Given the description of an element on the screen output the (x, y) to click on. 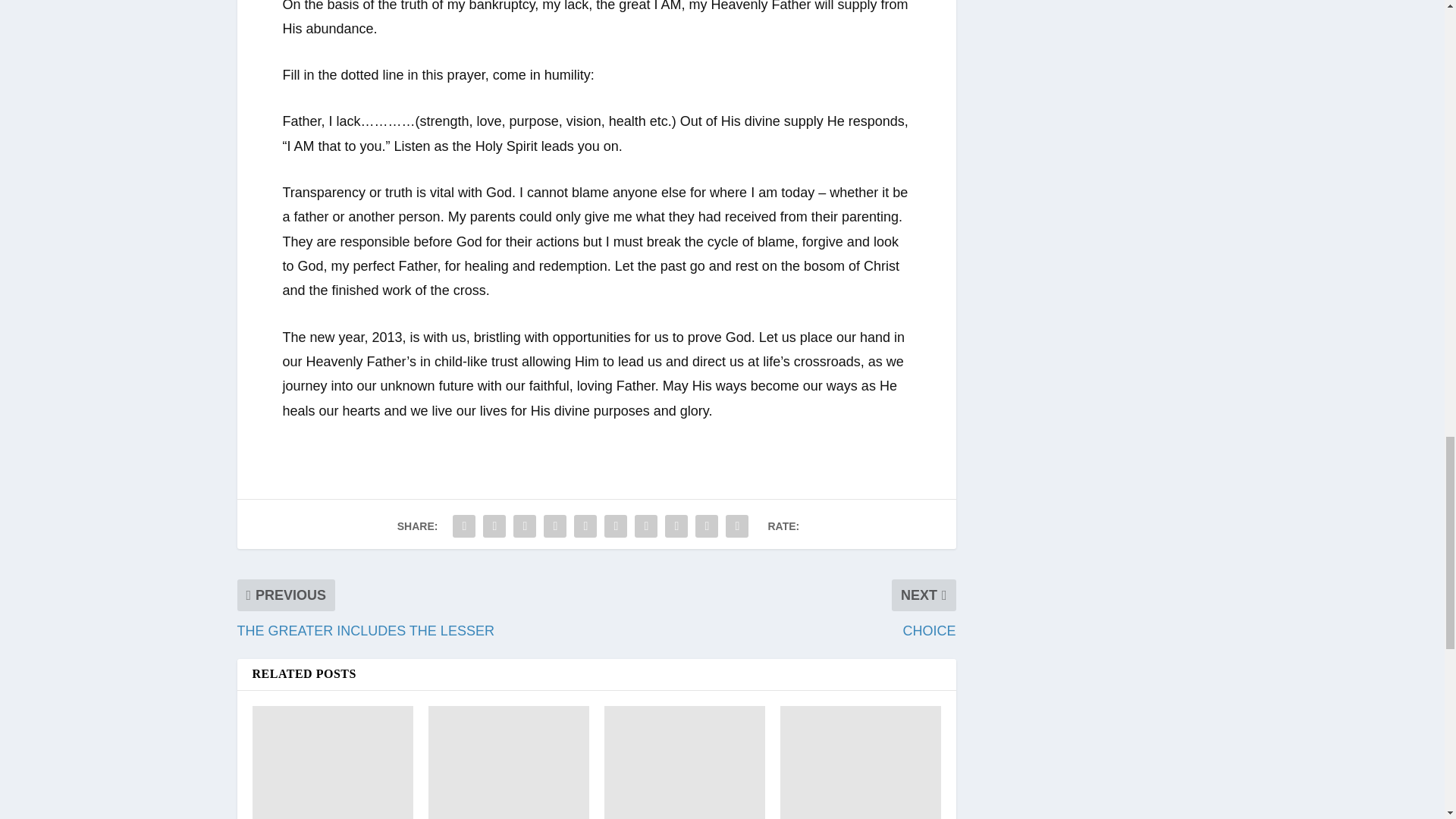
Share "THE FATHER HEART OF GOD" via Buffer (645, 526)
Share "THE FATHER HEART OF GOD" via Pinterest (584, 526)
Share "THE FATHER HEART OF GOD" via Print (737, 526)
Share "THE FATHER HEART OF GOD" via Facebook (463, 526)
Share "THE FATHER HEART OF GOD" via LinkedIn (614, 526)
Share "THE FATHER HEART OF GOD" via Stumbleupon (676, 526)
Share "THE FATHER HEART OF GOD" via Email (706, 526)
Share "THE FATHER HEART OF GOD" via Tumblr (555, 526)
Share "THE FATHER HEART OF GOD" via Twitter (494, 526)
